Given the description of an element on the screen output the (x, y) to click on. 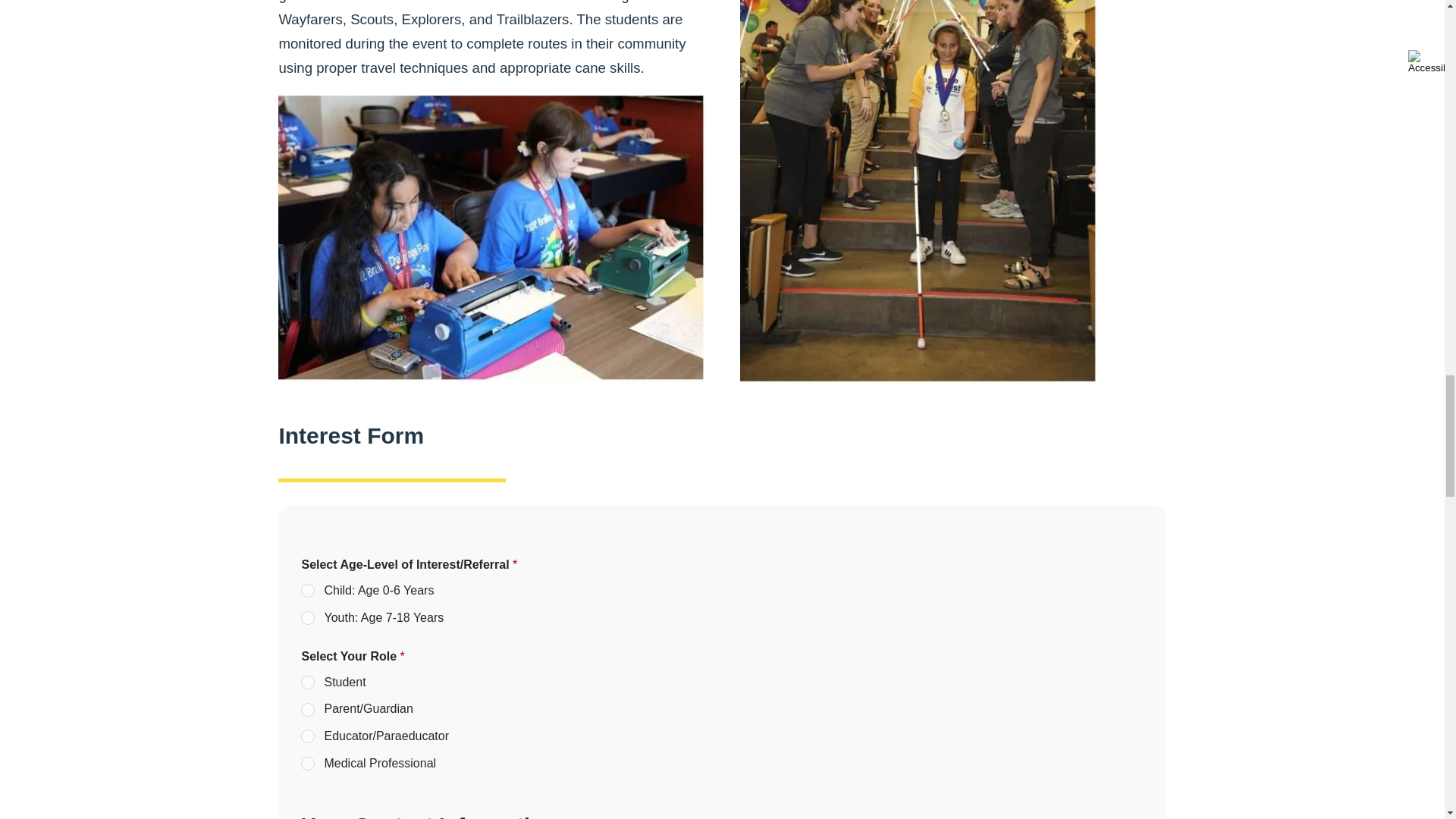
Student (308, 683)
Youth: Age 7-18 Years (308, 618)
Medical Professional (308, 764)
Child:  Age 0-6 Years (308, 591)
